Given the description of an element on the screen output the (x, y) to click on. 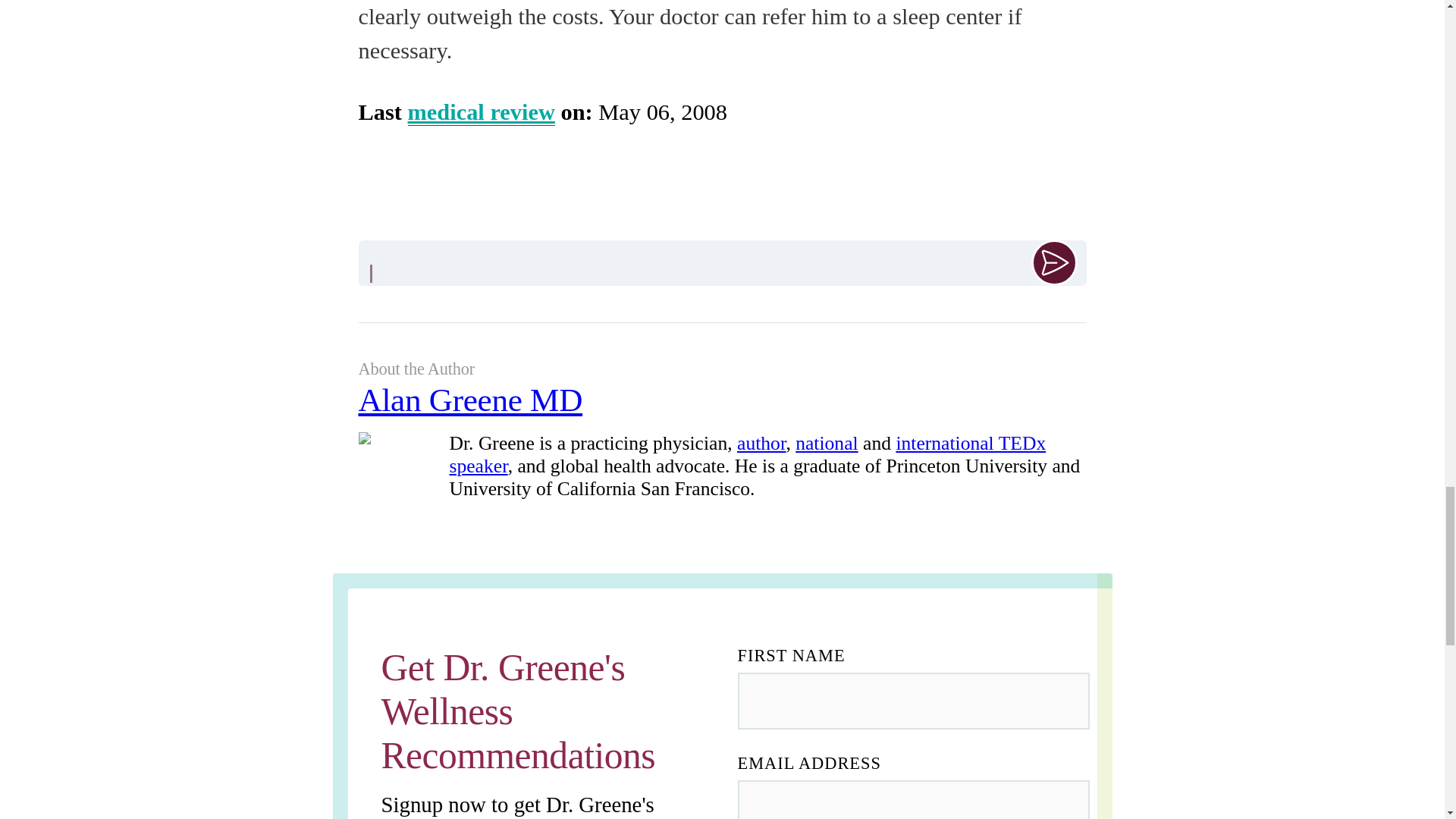
national (825, 443)
international TEDx speaker (746, 454)
Alan Greene MD (722, 406)
author (761, 443)
medical review (480, 112)
